Given the description of an element on the screen output the (x, y) to click on. 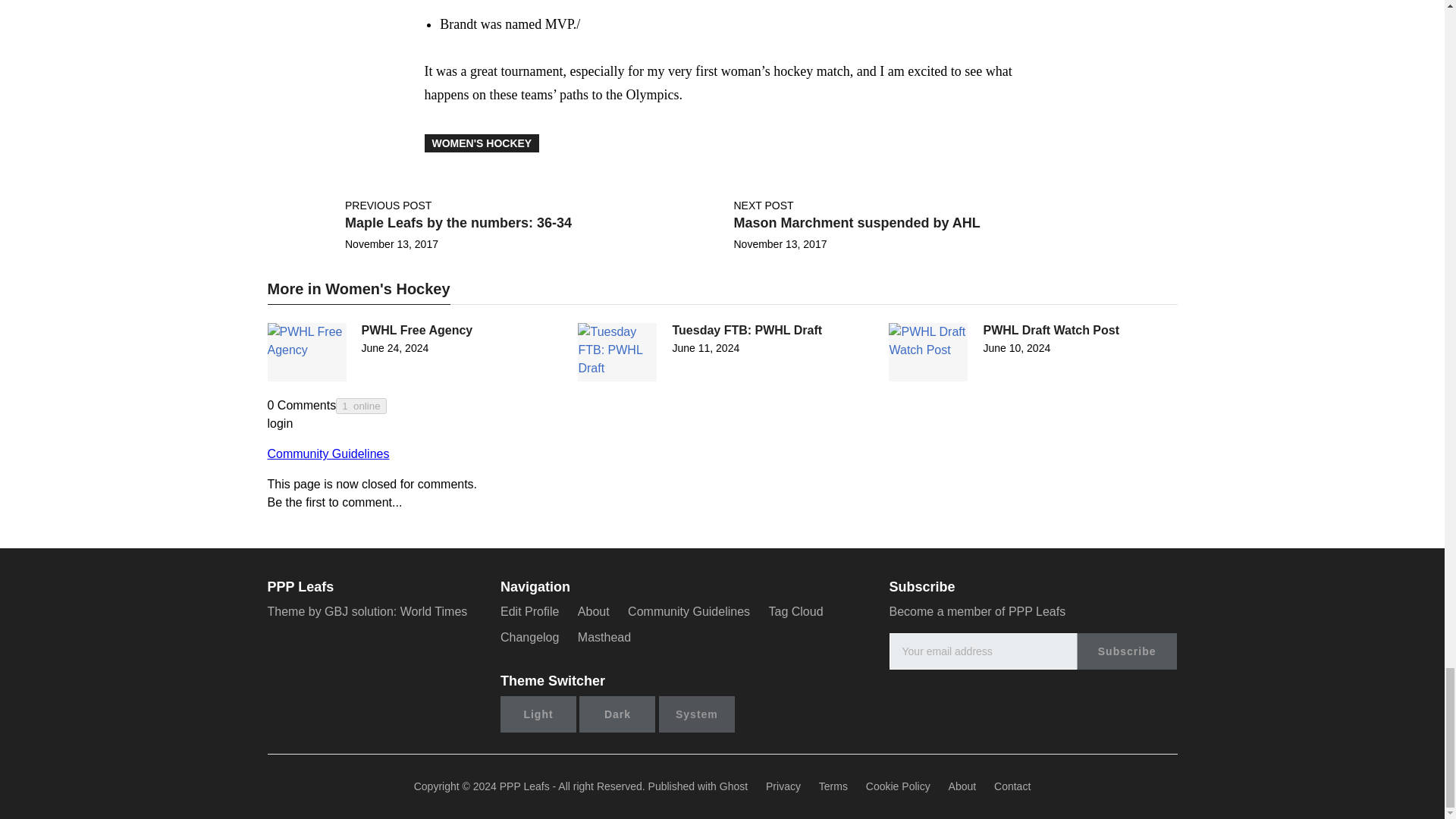
11 June, 2024 (705, 347)
13 November, 2017 (391, 244)
13 November, 2017 (780, 244)
10 June, 2024 (1015, 347)
24 June, 2024 (394, 347)
